Given the description of an element on the screen output the (x, y) to click on. 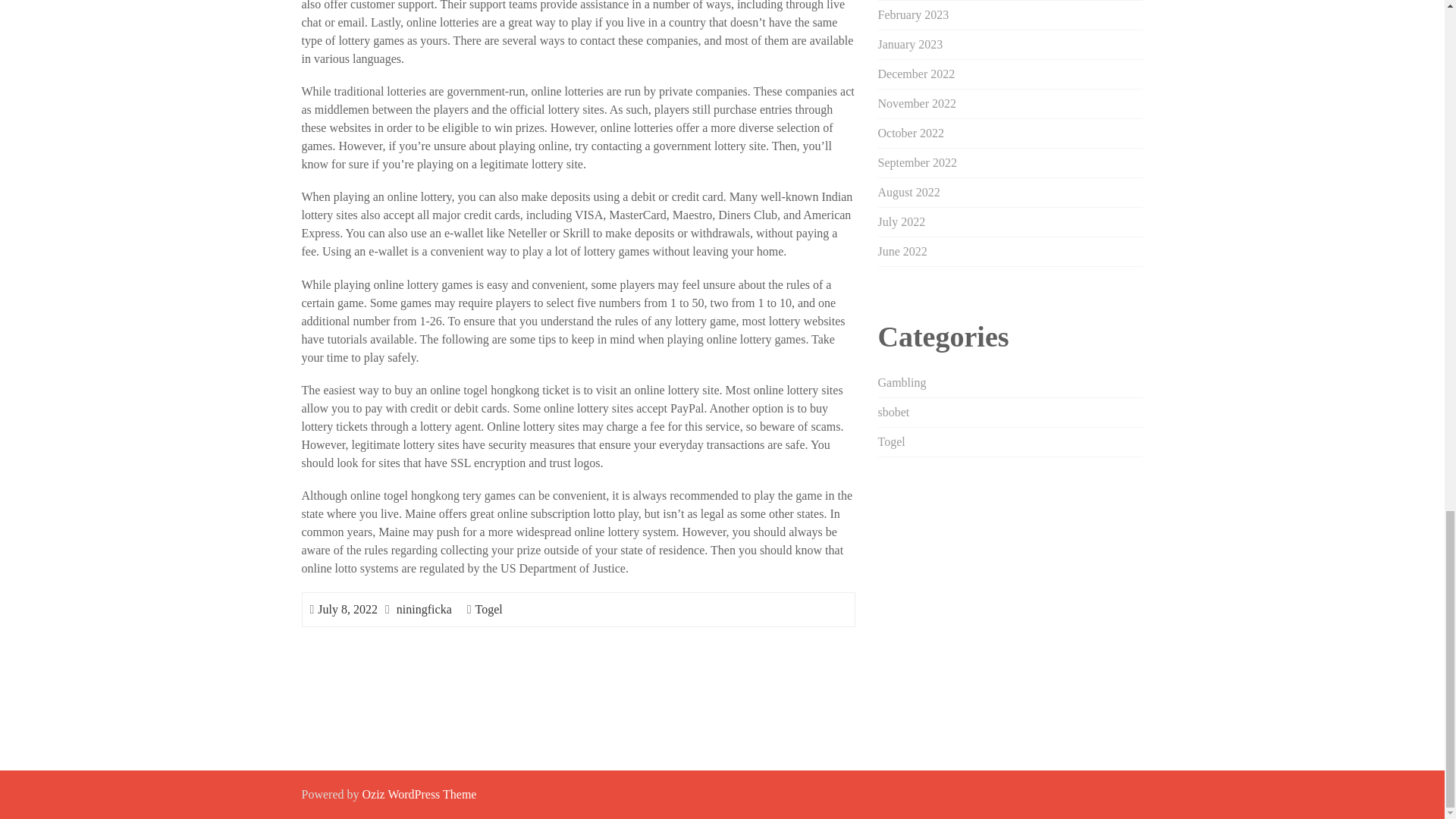
niningficka (423, 608)
July 8, 2022 (347, 608)
Togel (489, 608)
February 2023 (913, 14)
